Given the description of an element on the screen output the (x, y) to click on. 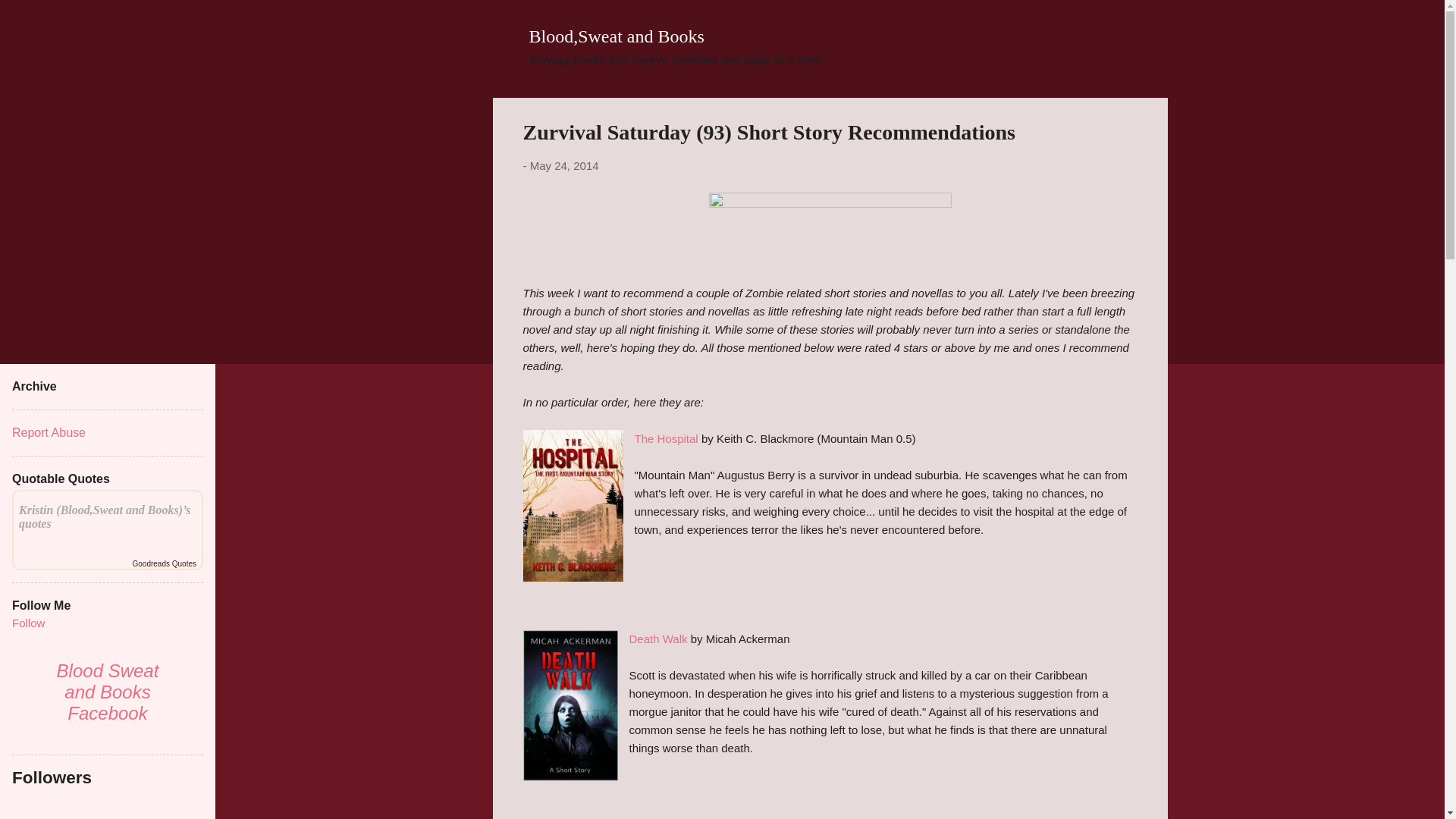
Blood,Sweat and Books (616, 35)
Search (29, 18)
The Hospital (665, 438)
Death Walk (657, 638)
permanent link (563, 164)
May 24, 2014 (563, 164)
